Given the description of an element on the screen output the (x, y) to click on. 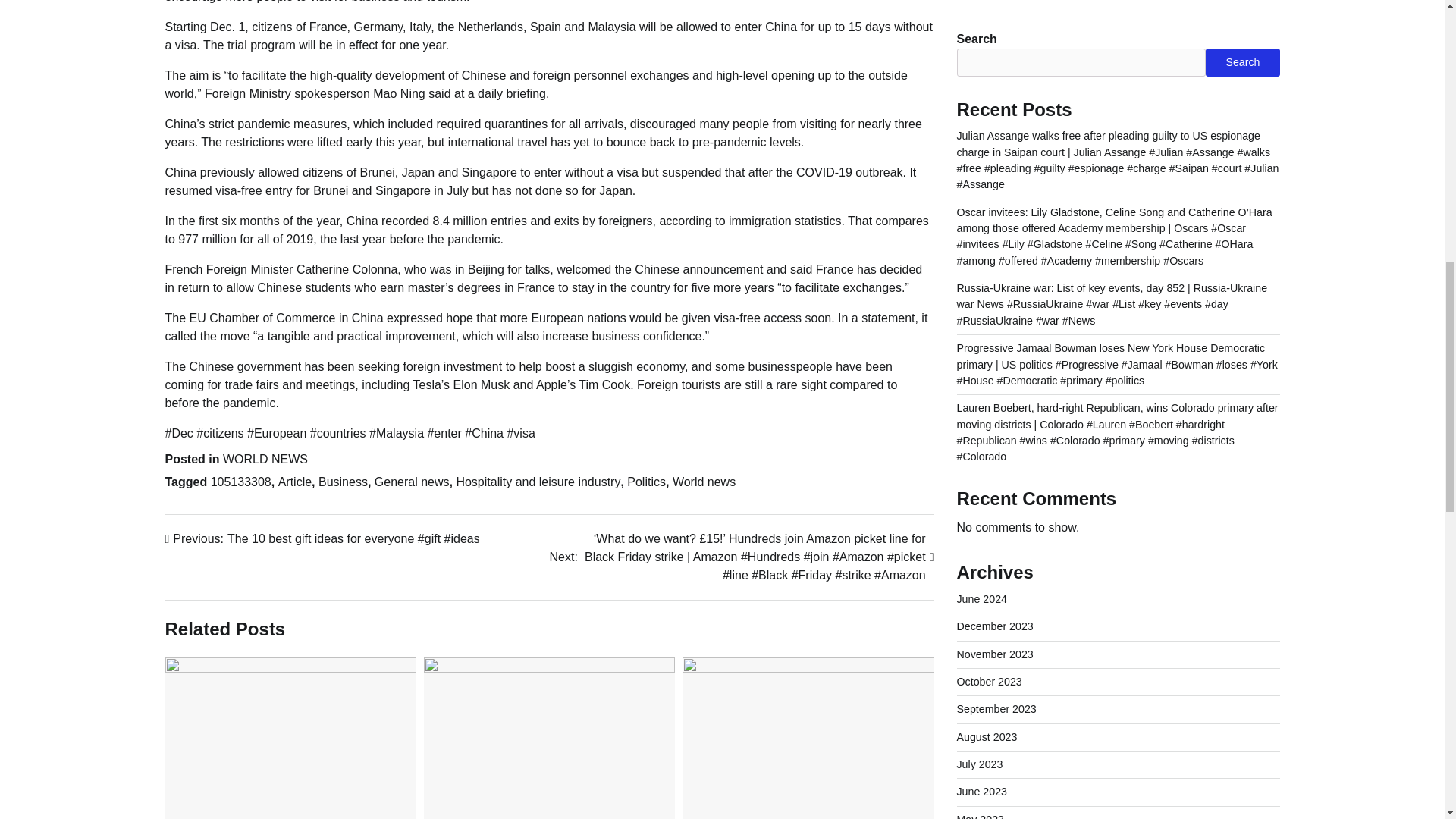
World news (703, 481)
Article (294, 481)
WORLD NEWS (264, 459)
Business (343, 481)
Politics (646, 481)
September 2023 (996, 46)
General news (411, 481)
105133308 (240, 481)
Hospitality and leisure industry (537, 481)
October 2023 (989, 19)
